Given the description of an element on the screen output the (x, y) to click on. 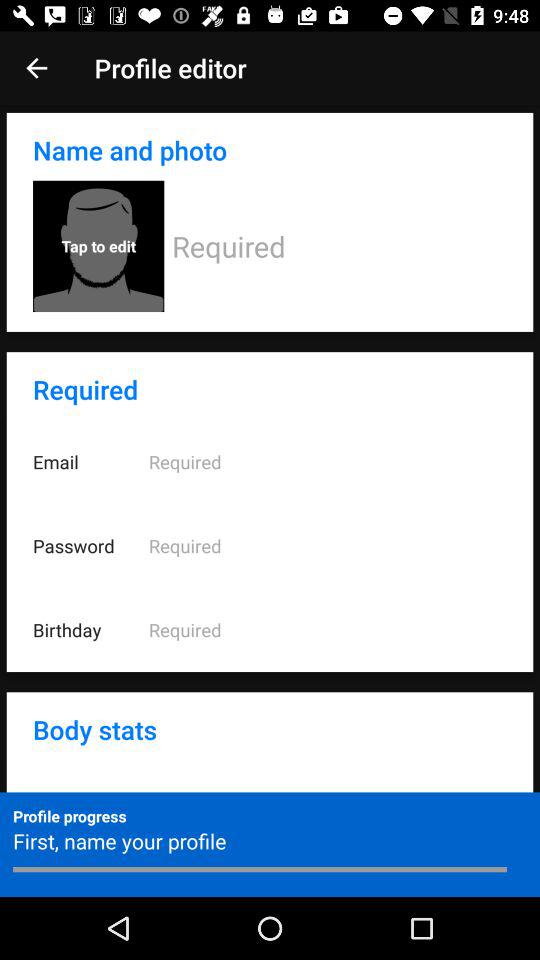
click on the email option in the required field (269, 462)
